Given the description of an element on the screen output the (x, y) to click on. 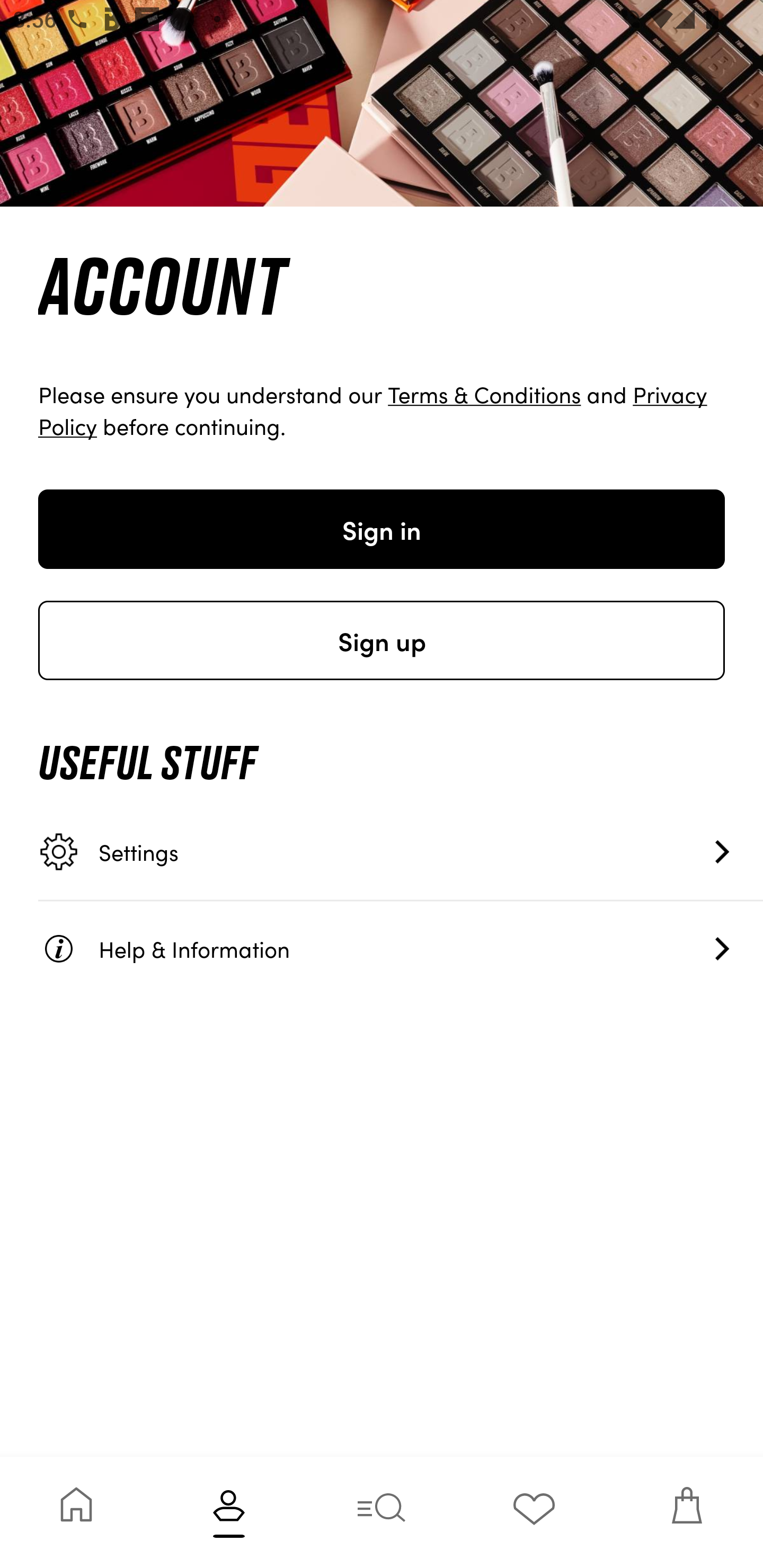
Sign in (381, 529)
Sign up (381, 640)
Settings (400, 852)
Help & Information (400, 948)
